Given the description of an element on the screen output the (x, y) to click on. 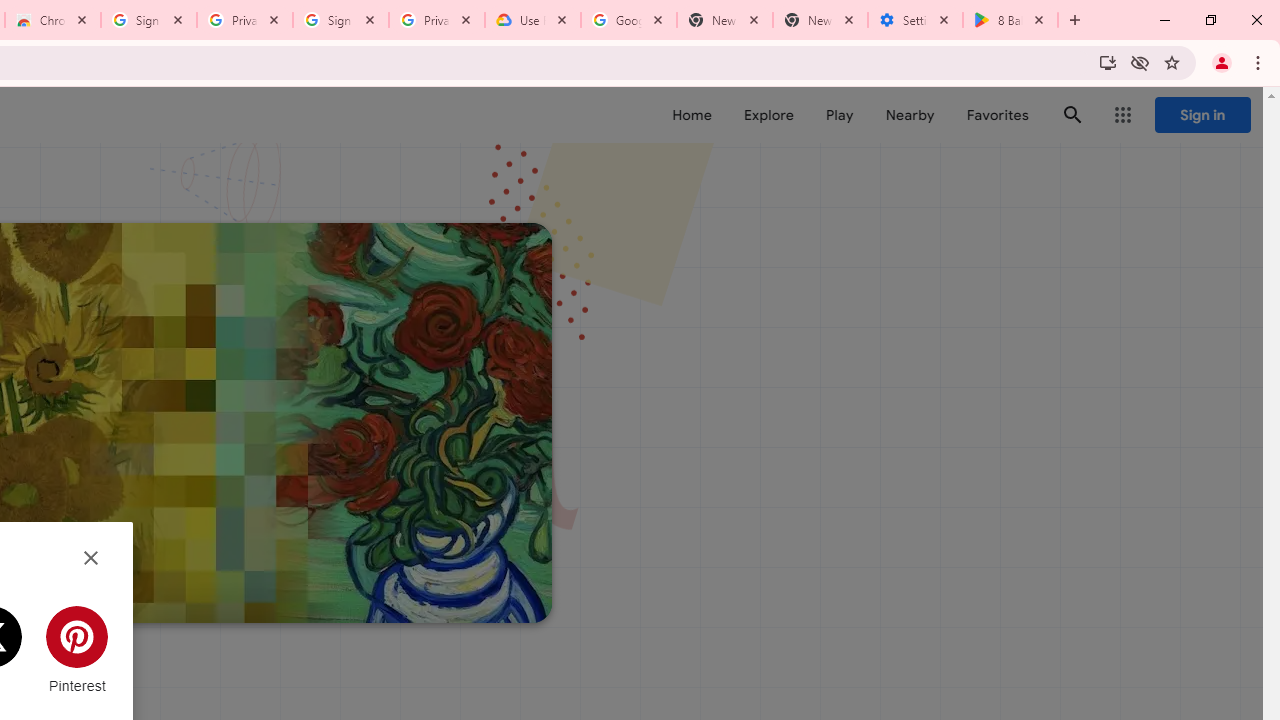
Explore (768, 115)
Nearby (910, 115)
Install Google Arts & Culture (1107, 62)
Settings - System (914, 20)
